Given the description of an element on the screen output the (x, y) to click on. 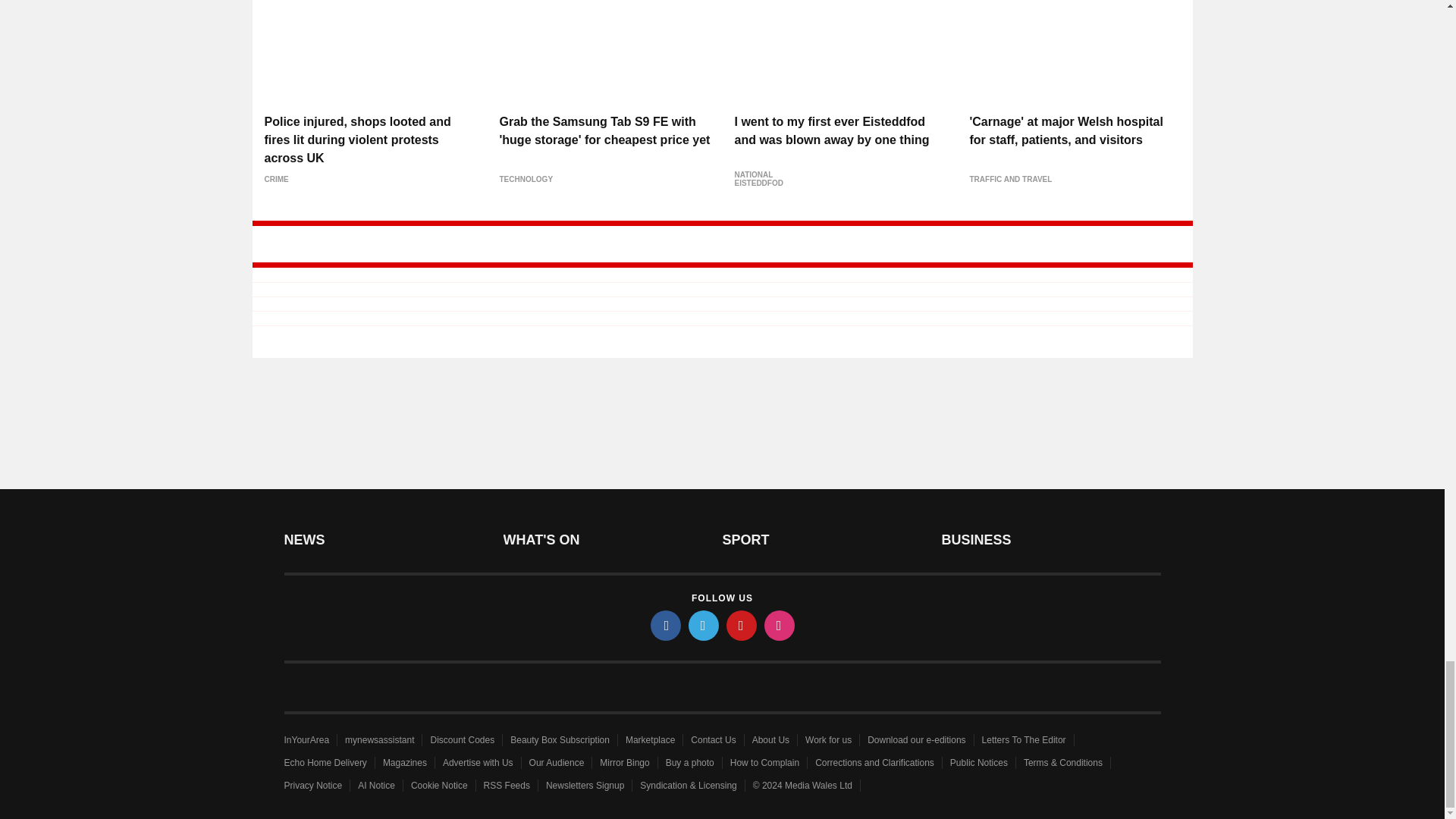
twitter (703, 625)
facebook (665, 625)
instagram (779, 625)
pinterest (741, 625)
